Given the description of an element on the screen output the (x, y) to click on. 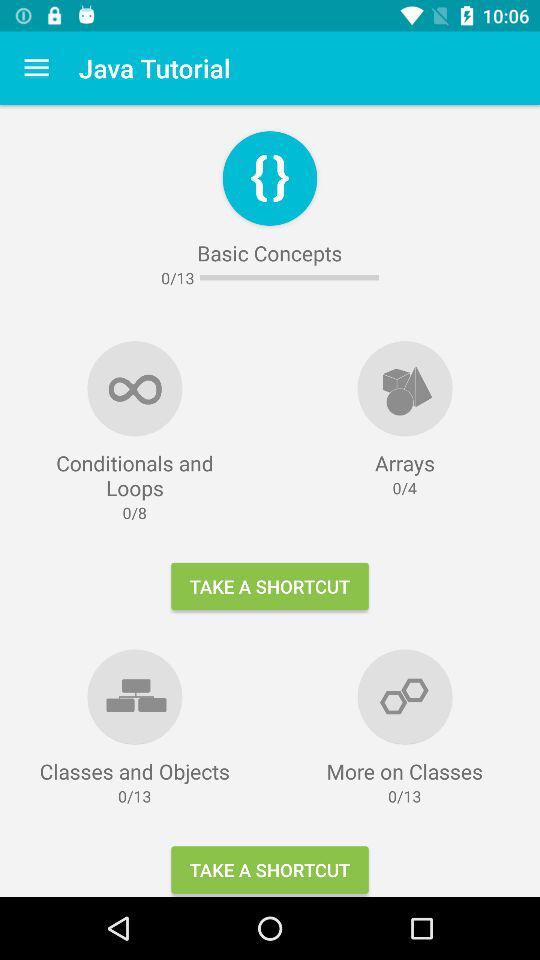
press icon next to java tutorial item (36, 68)
